Given the description of an element on the screen output the (x, y) to click on. 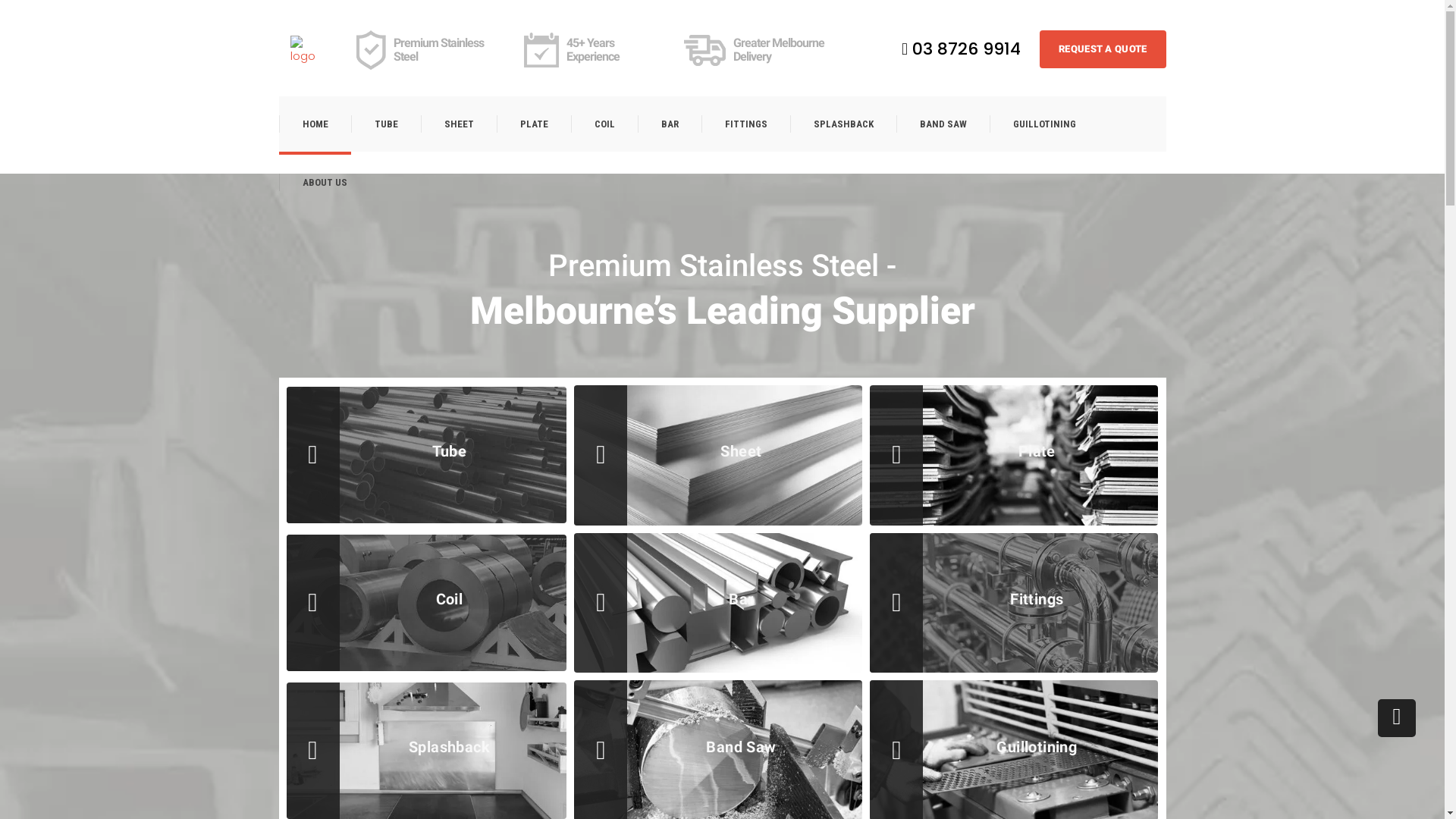
GUILLOTINING Element type: text (1043, 123)
Splashback Element type: text (449, 746)
Tube Element type: text (449, 450)
TUBE Element type: text (385, 123)
Bar Element type: text (740, 598)
Fittings Element type: text (1036, 598)
BAR Element type: text (668, 123)
Guillotining Element type: text (1036, 746)
REQUEST A QUOTE Element type: text (1102, 49)
Go to top Element type: hover (1396, 718)
Coil Element type: text (449, 598)
Plate Element type: text (1036, 450)
HOME Element type: text (315, 123)
Sheet Element type: text (740, 450)
ABOUT US Element type: text (324, 182)
PLATE Element type: text (532, 123)
COIL Element type: text (603, 123)
SPLASHBACK Element type: text (843, 123)
FITTINGS Element type: text (744, 123)
03 8726 9914 Element type: text (960, 48)
Band Saw Element type: text (740, 746)
BAND SAW Element type: text (942, 123)
SHEET Element type: text (457, 123)
